Given the description of an element on the screen output the (x, y) to click on. 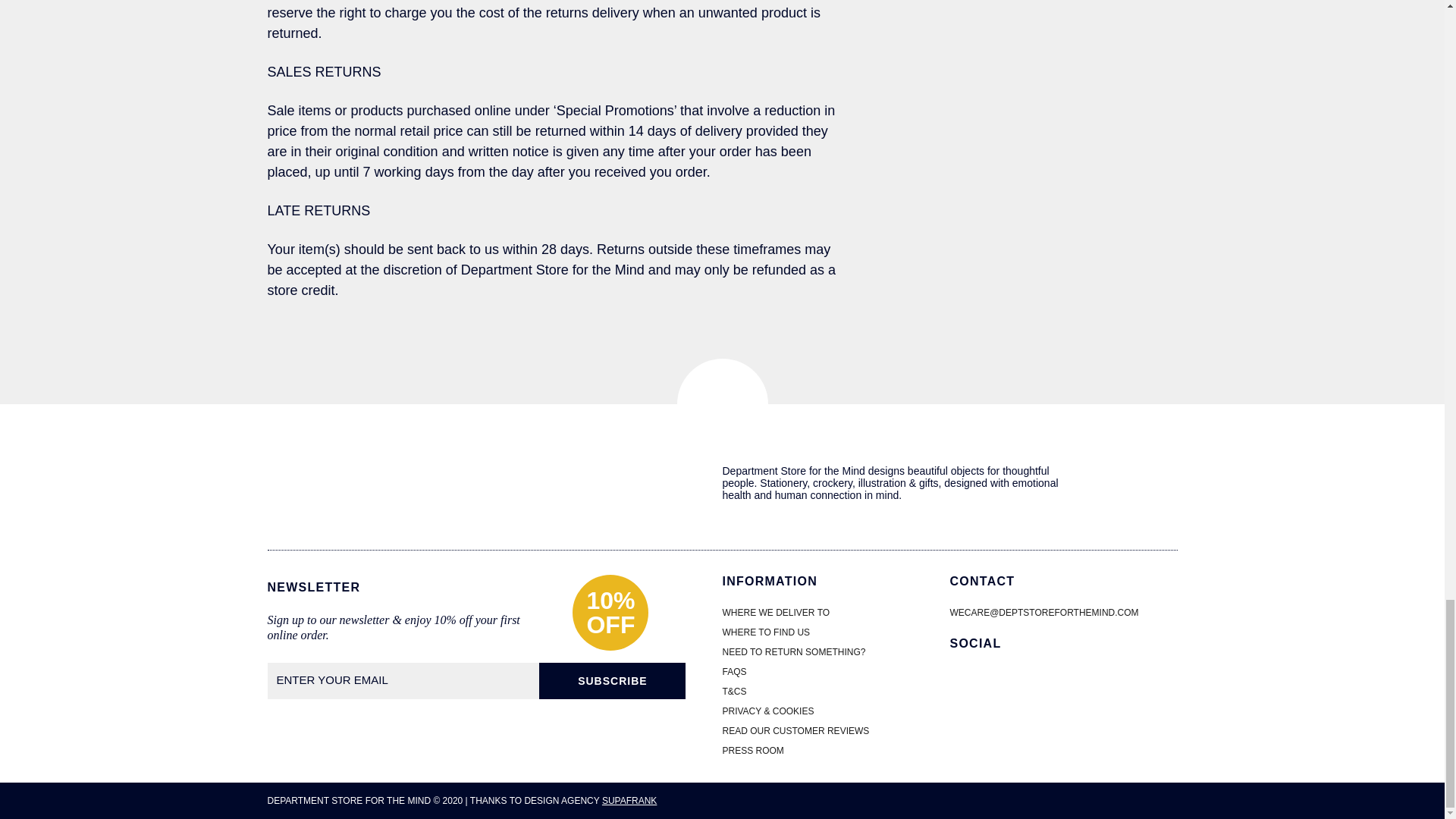
WHERE WE DELIVER TO (775, 612)
SUBSCRIBE (611, 680)
WHERE TO FIND US (765, 632)
FAQS (733, 671)
NEED TO RETURN SOMETHING? (793, 652)
INSTAGRAM (1059, 681)
TWITTER (1020, 681)
SUPAFRANK (629, 800)
PINTEREST (984, 681)
READ OUR CUSTOMER REVIEWS (795, 730)
PRESS ROOM (752, 750)
FACEBOOK (953, 681)
